Given the description of an element on the screen output the (x, y) to click on. 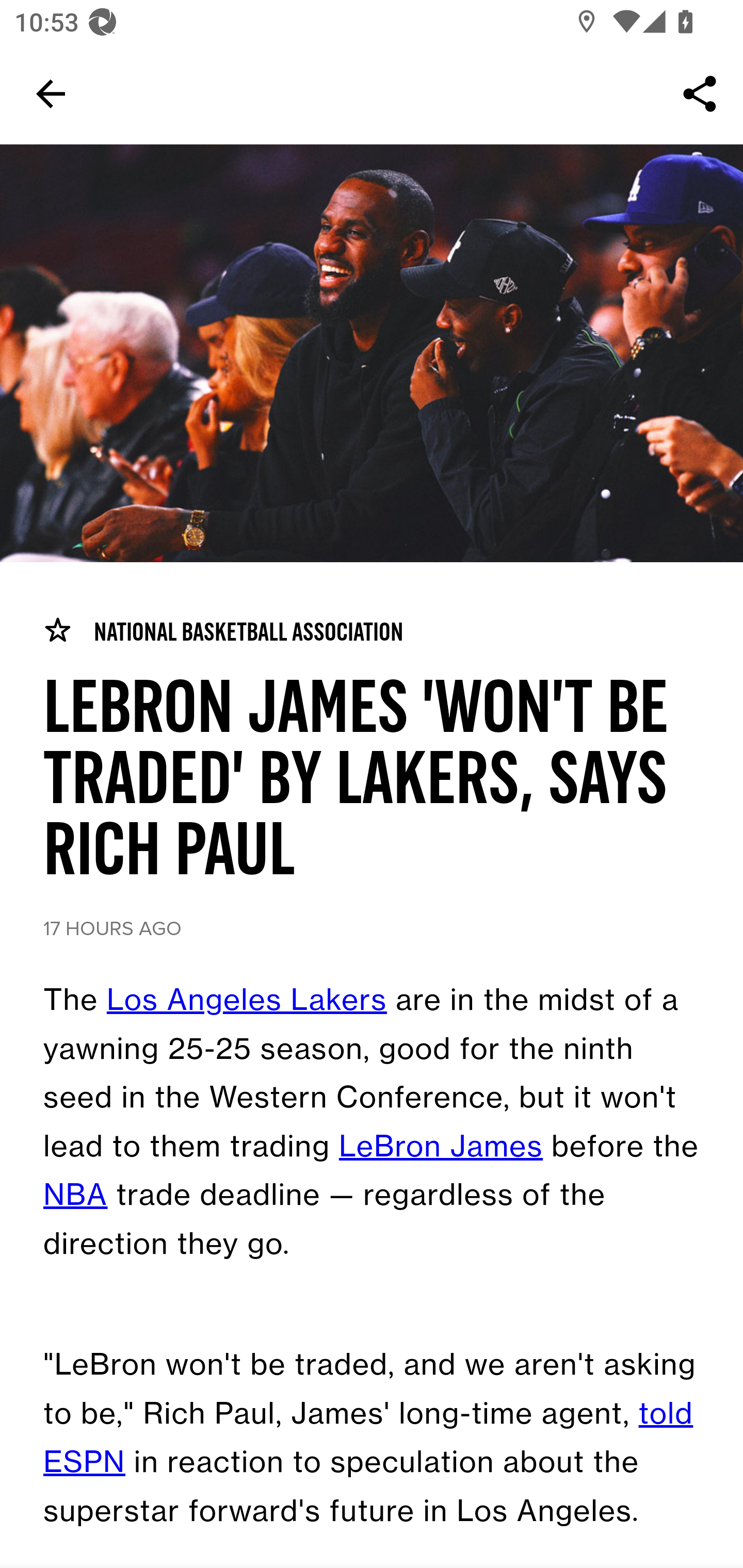
Navigate up (50, 93)
Share (699, 93)
NATIONAL BASKETBALL ASSOCIATION (223, 630)
